Given the description of an element on the screen output the (x, y) to click on. 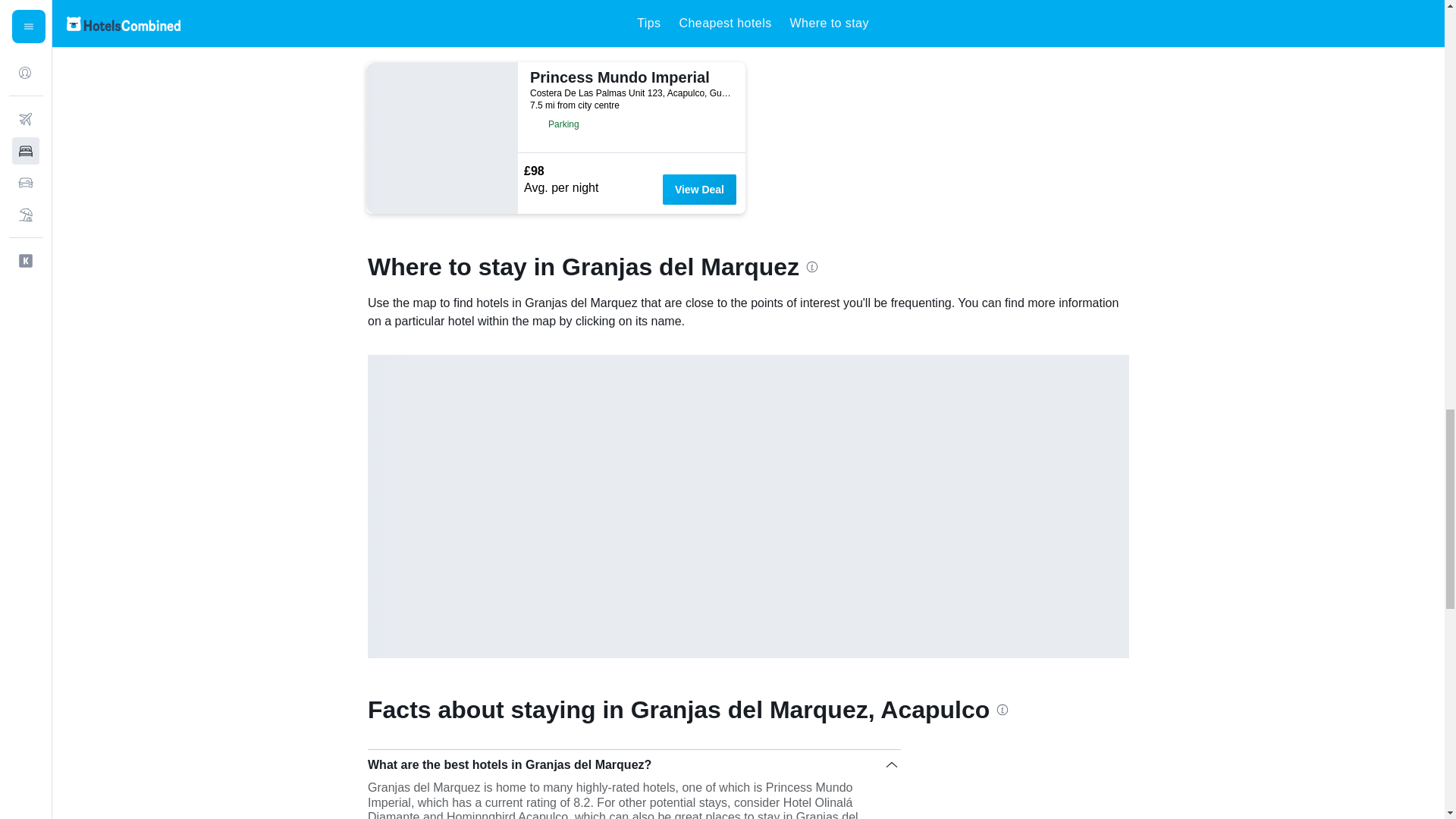
Show all 103 hotels (424, 38)
View Deal (699, 189)
Princess Mundo Imperial (629, 76)
